Given the description of an element on the screen output the (x, y) to click on. 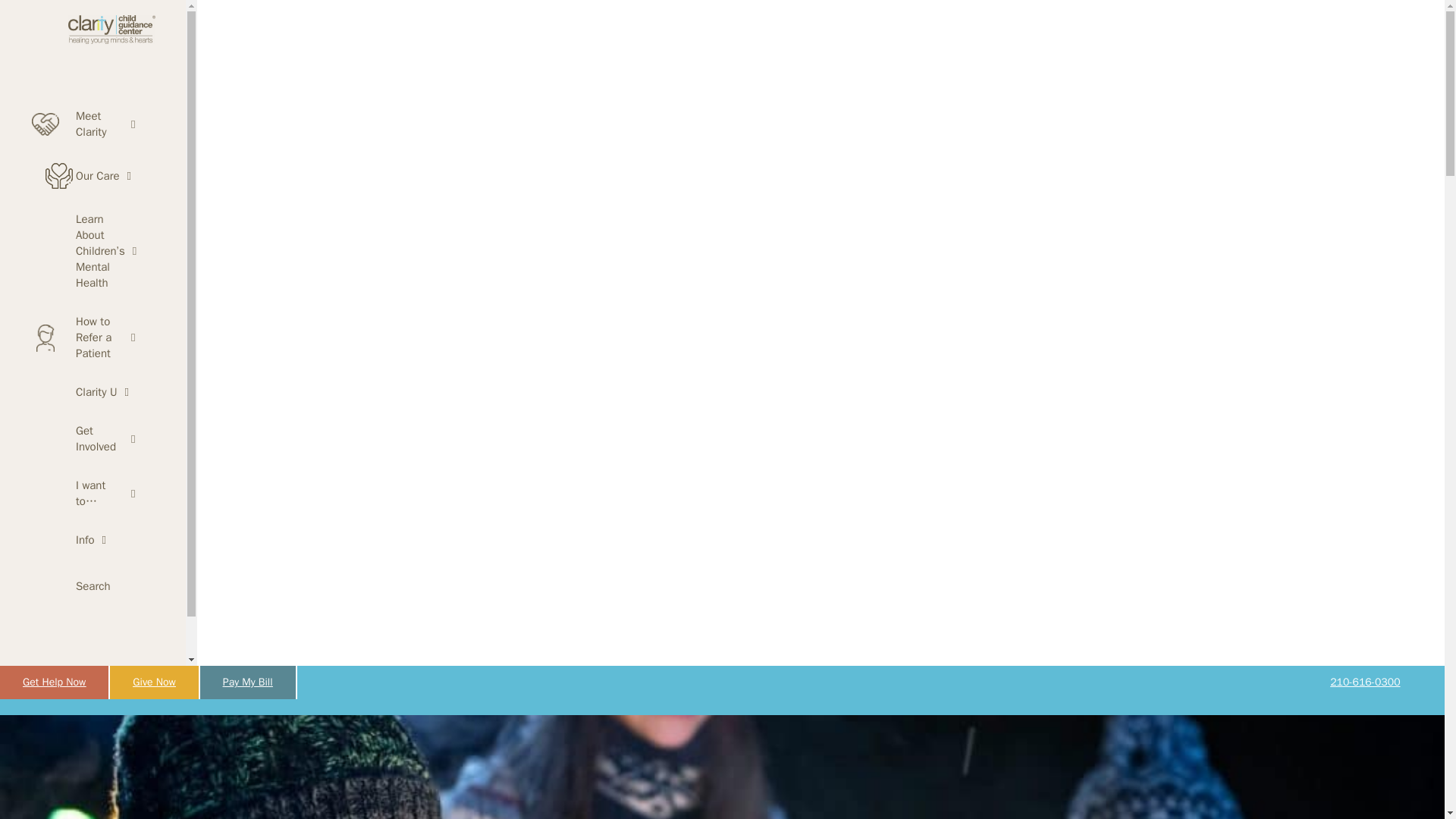
Our Care (84, 175)
Meet Clarity (84, 124)
Get Involved (84, 438)
Clarity U (84, 392)
How to Refer a Patient (84, 337)
